Given the description of an element on the screen output the (x, y) to click on. 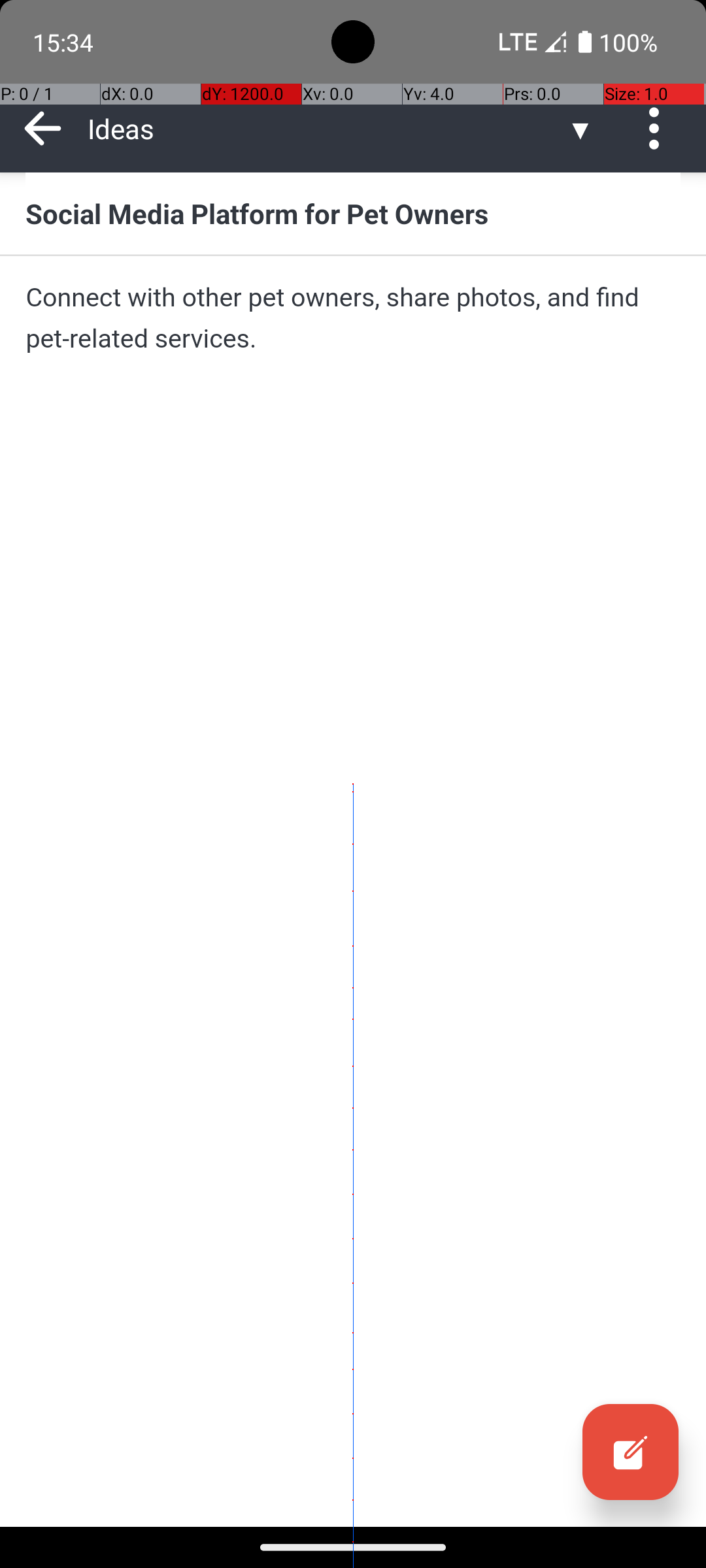
Social Media Platform for Pet Owners Element type: android.widget.EditText (352, 213)
Connect with other pet owners, share photos, and find pet-related services. Element type: android.widget.TextView (352, 317)
